Given the description of an element on the screen output the (x, y) to click on. 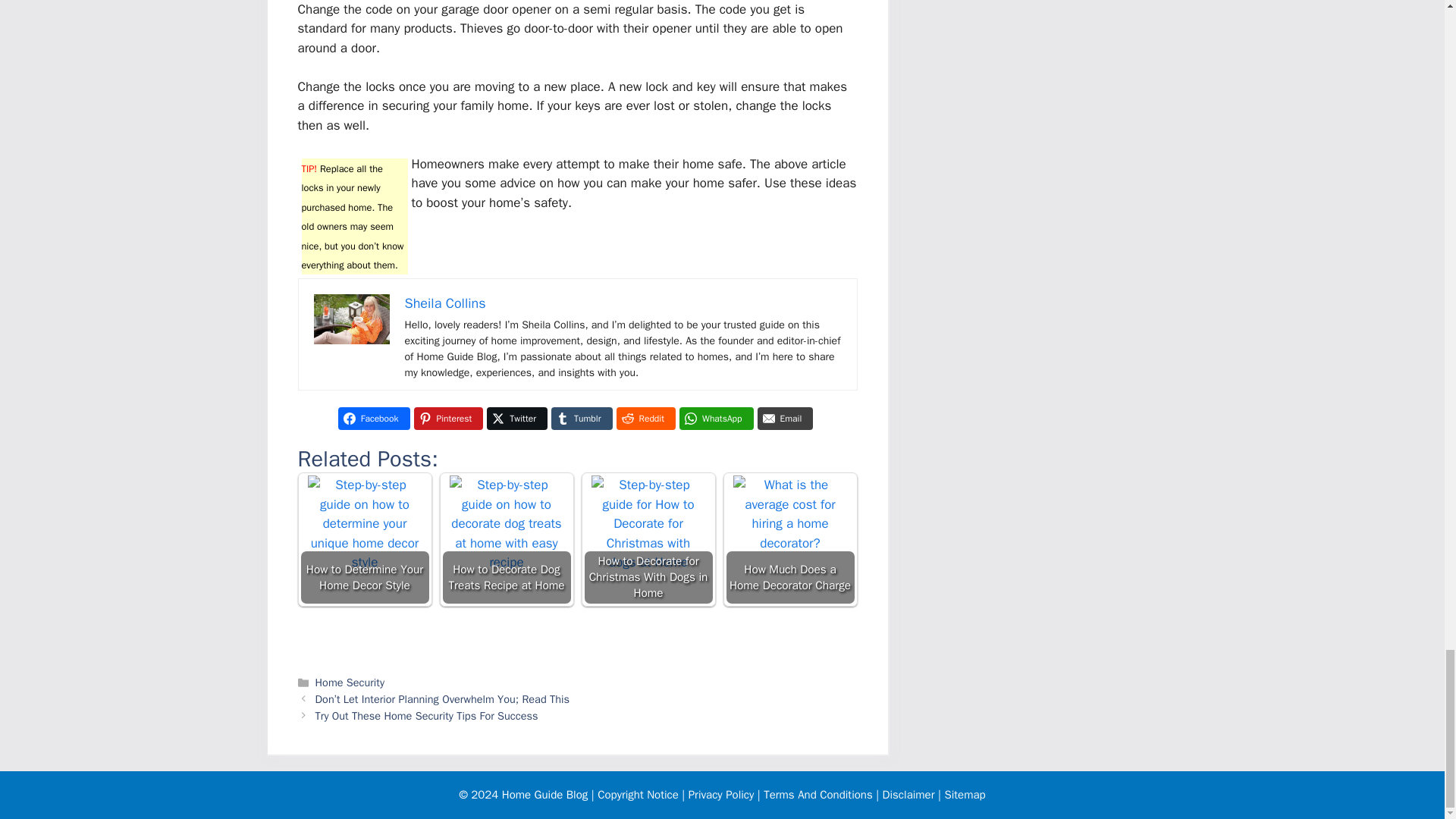
Tumblr (581, 418)
Tips To Make The Most Of Your Home Security 2 (352, 319)
Share on Twitter (516, 418)
Facebook (373, 418)
Twitter (516, 418)
Share on Tumblr (581, 418)
Reddit (645, 418)
Share on Facebook (373, 418)
Share on Pinterest (448, 418)
How to Decorate Dog Treats Recipe at Home (506, 531)
